Given the description of an element on the screen output the (x, y) to click on. 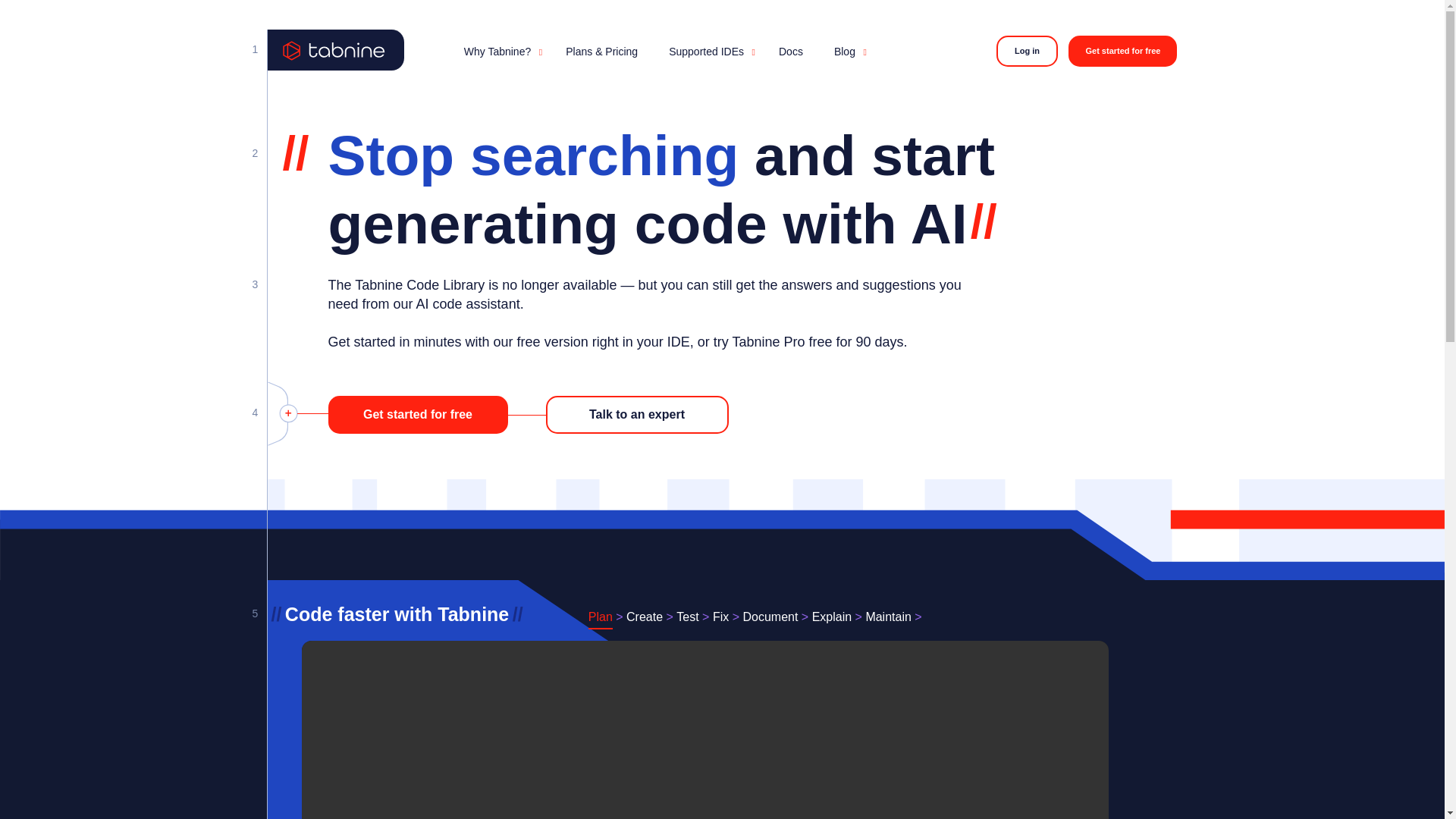
Blog (846, 50)
Get started for free (1122, 51)
Get started for free (416, 414)
Log in (1026, 51)
Supported IDEs (707, 50)
Why Tabnine? (499, 50)
Docs (790, 51)
